Given the description of an element on the screen output the (x, y) to click on. 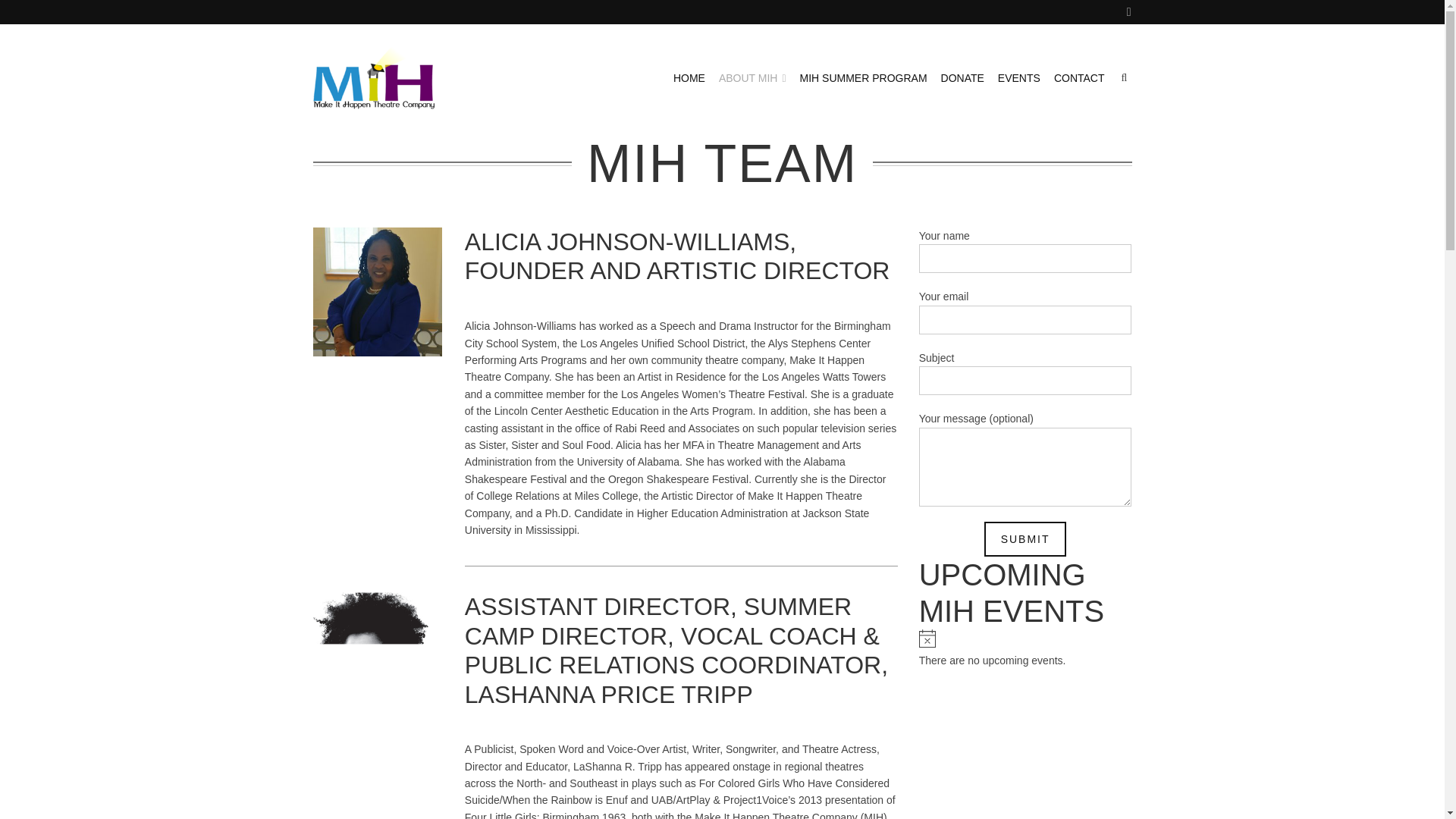
LRT-Headshot-BW-300X300 (377, 656)
DONATE (962, 77)
MIH SUMMER PROGRAM (863, 77)
EVENTS (1019, 77)
alicia-300x300 (377, 291)
CONTACT (1079, 77)
Submit (1024, 538)
Submit (1024, 538)
ABOUT MIH (752, 77)
